Given the description of an element on the screen output the (x, y) to click on. 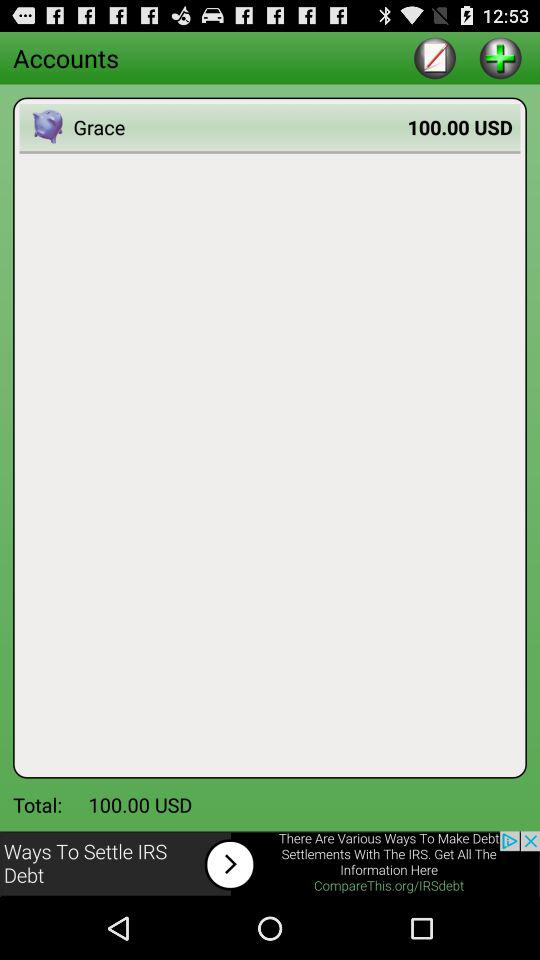
increment button (500, 57)
